Given the description of an element on the screen output the (x, y) to click on. 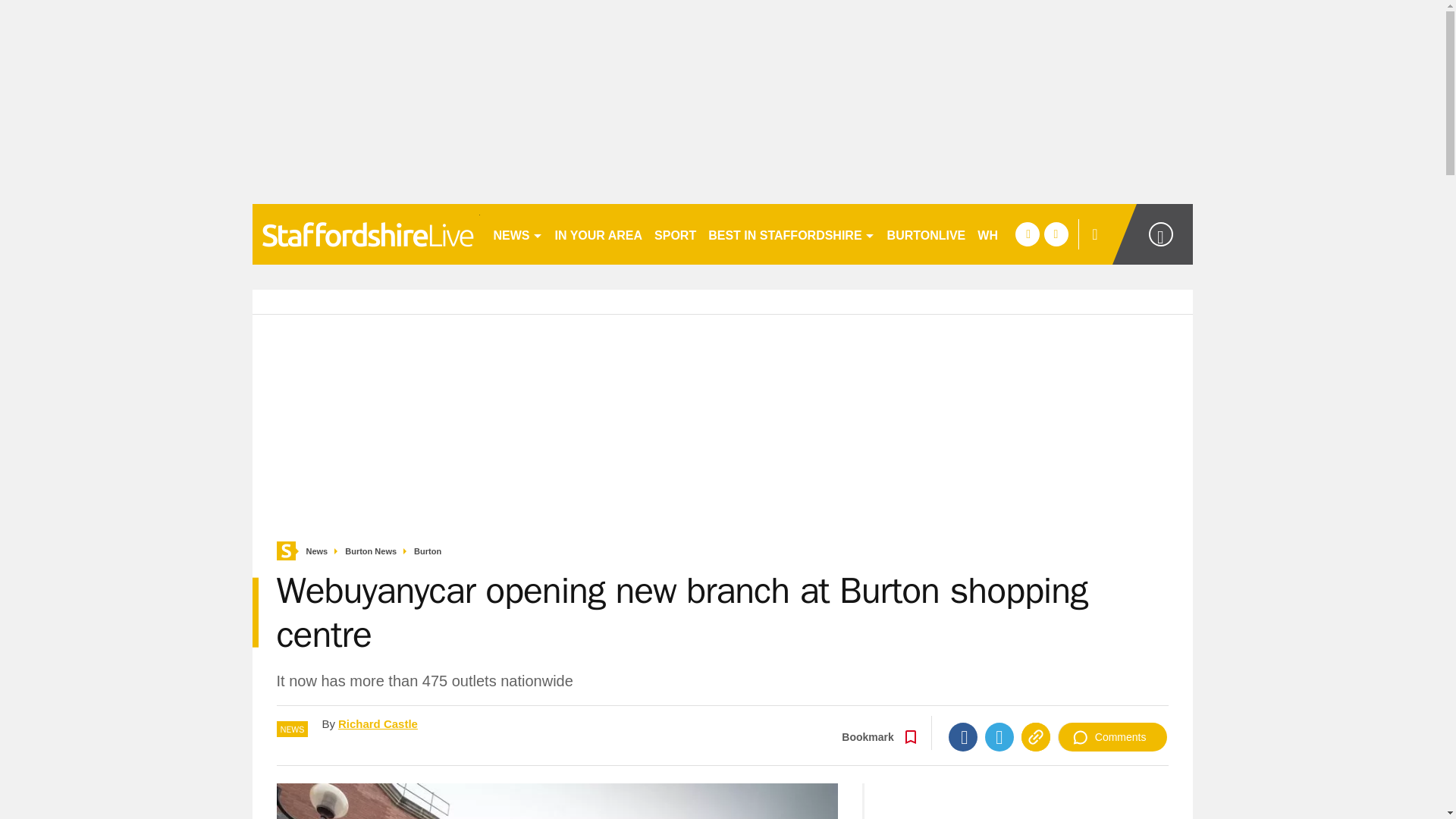
BURTONLIVE (926, 233)
twitter (1055, 233)
Comments (1112, 736)
Twitter (999, 736)
Facebook (962, 736)
IN YOUR AREA (598, 233)
facebook (1026, 233)
burtonmail (365, 233)
BEST IN STAFFORDSHIRE (790, 233)
WHO WE ARE (1017, 233)
